Given the description of an element on the screen output the (x, y) to click on. 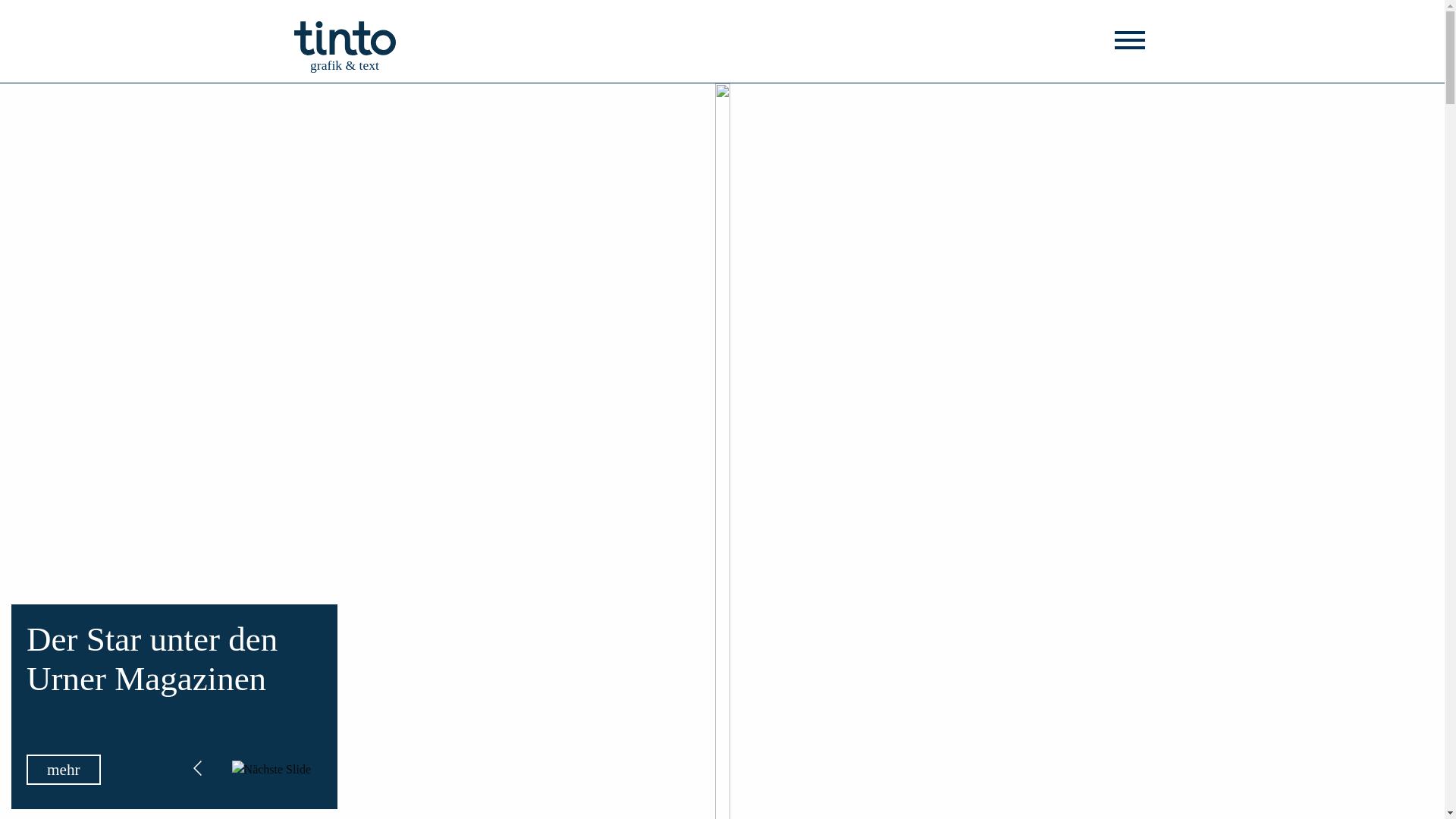
tinto ag - werbeagentur uri Element type: hover (344, 38)
grafik & text Element type: text (344, 38)
mehr Element type: text (63, 769)
